Given the description of an element on the screen output the (x, y) to click on. 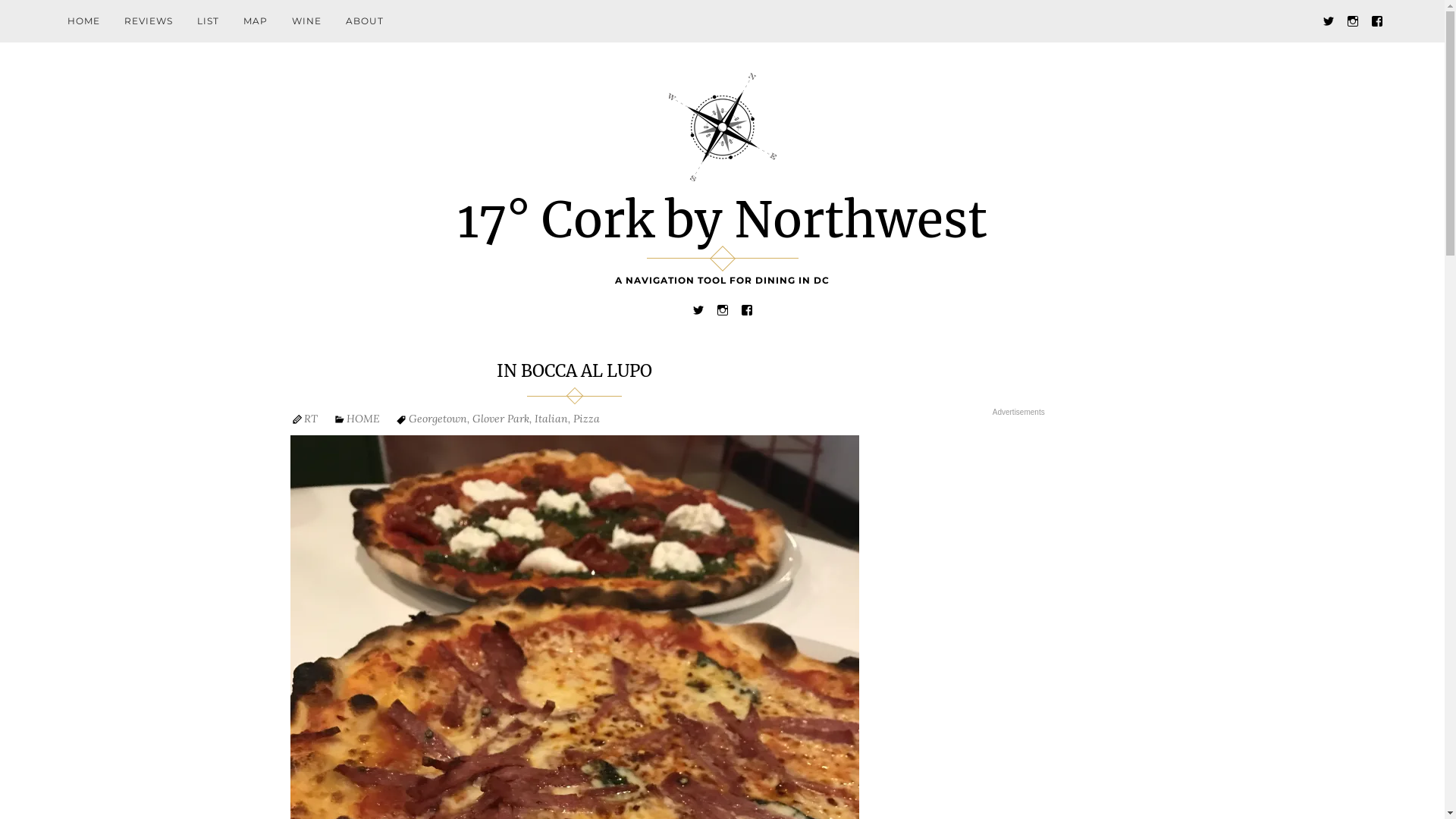
ABOUT Element type: text (364, 21)
Georgetown Element type: text (436, 418)
Glover Park Element type: text (499, 418)
Pizza Element type: text (586, 418)
LIST Element type: text (207, 21)
WINE Element type: text (306, 21)
HOME Element type: text (83, 21)
MAP Element type: text (255, 21)
Italian Element type: text (550, 418)
RT Element type: text (309, 418)
HOME Element type: text (362, 418)
REVIEWS Element type: text (148, 21)
